Given the description of an element on the screen output the (x, y) to click on. 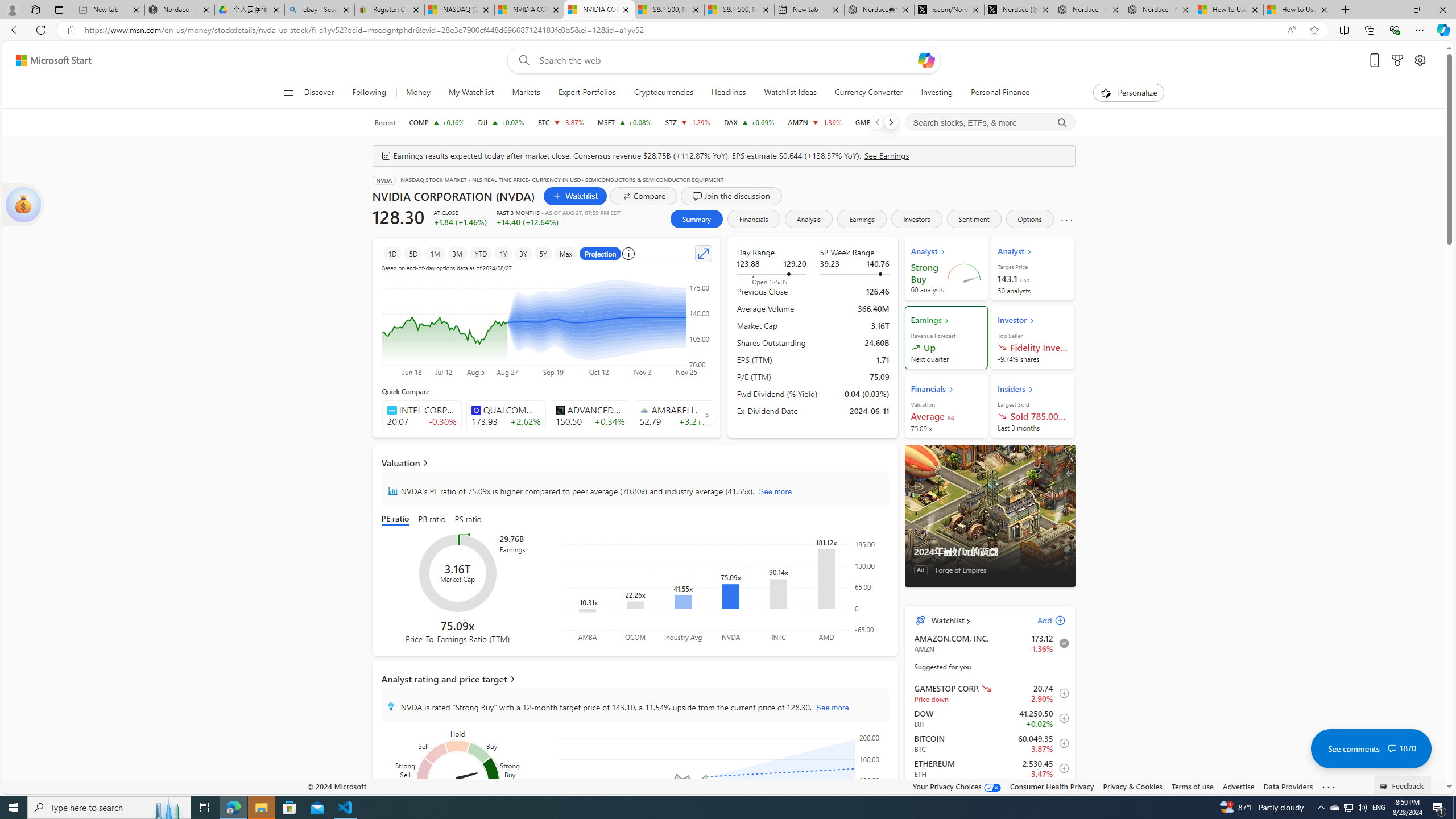
ETH Ethereum decrease 2,530.45 -87.83 -3.47% item3 (989, 767)
Following (368, 92)
ebay - Search (319, 9)
Add to Watchlist (1061, 793)
GME GAMESTOP CORP. decrease 20.74 -0.62 -2.90% item0 (989, 692)
Personalize (1128, 92)
New tab - Sleeping (109, 9)
5D (413, 253)
Watchlist Ideas (790, 92)
Search stocks, ETFs, & more (989, 122)
Data Providers (1288, 786)
MSFT MICROSOFT CORPORATION increase 413.84 +0.35 +0.08% (623, 122)
